Given the description of an element on the screen output the (x, y) to click on. 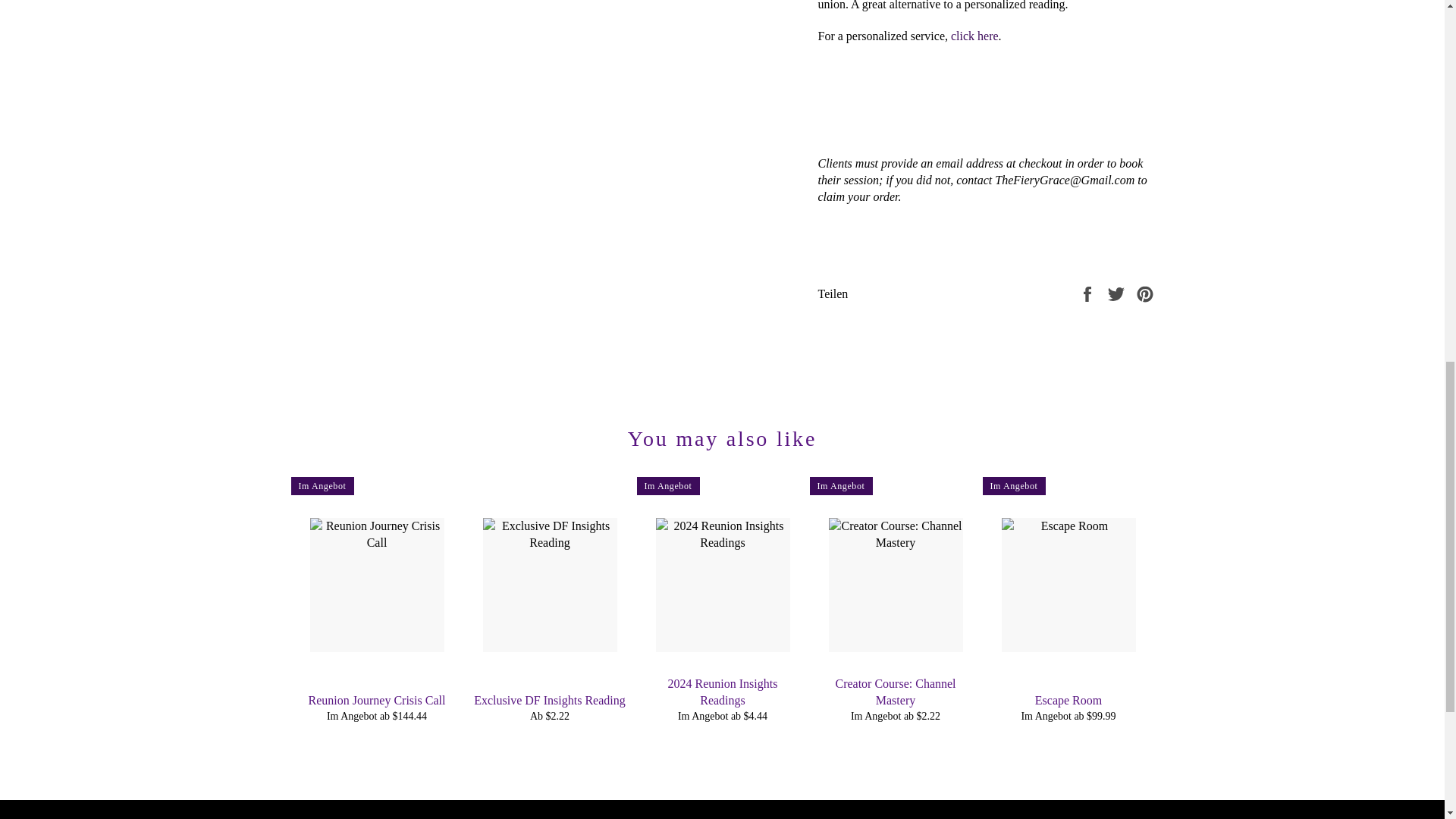
Auf Facebook teilen (1088, 292)
Auf Pinterest pinnen (1144, 292)
Auf Twitter twittern (1117, 292)
DM Insights Readings by Fiery Grace (974, 35)
